Given the description of an element on the screen output the (x, y) to click on. 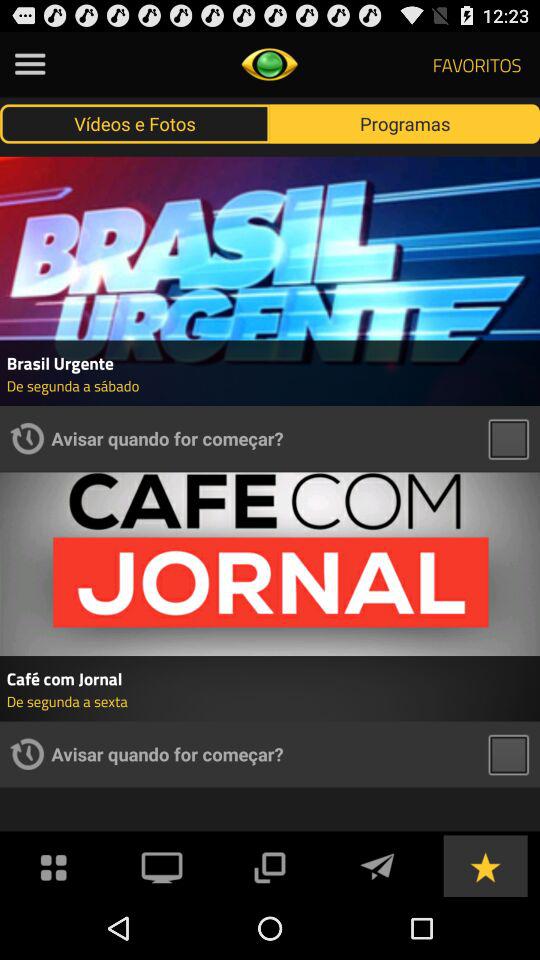
mark as favorite (485, 865)
